Given the description of an element on the screen output the (x, y) to click on. 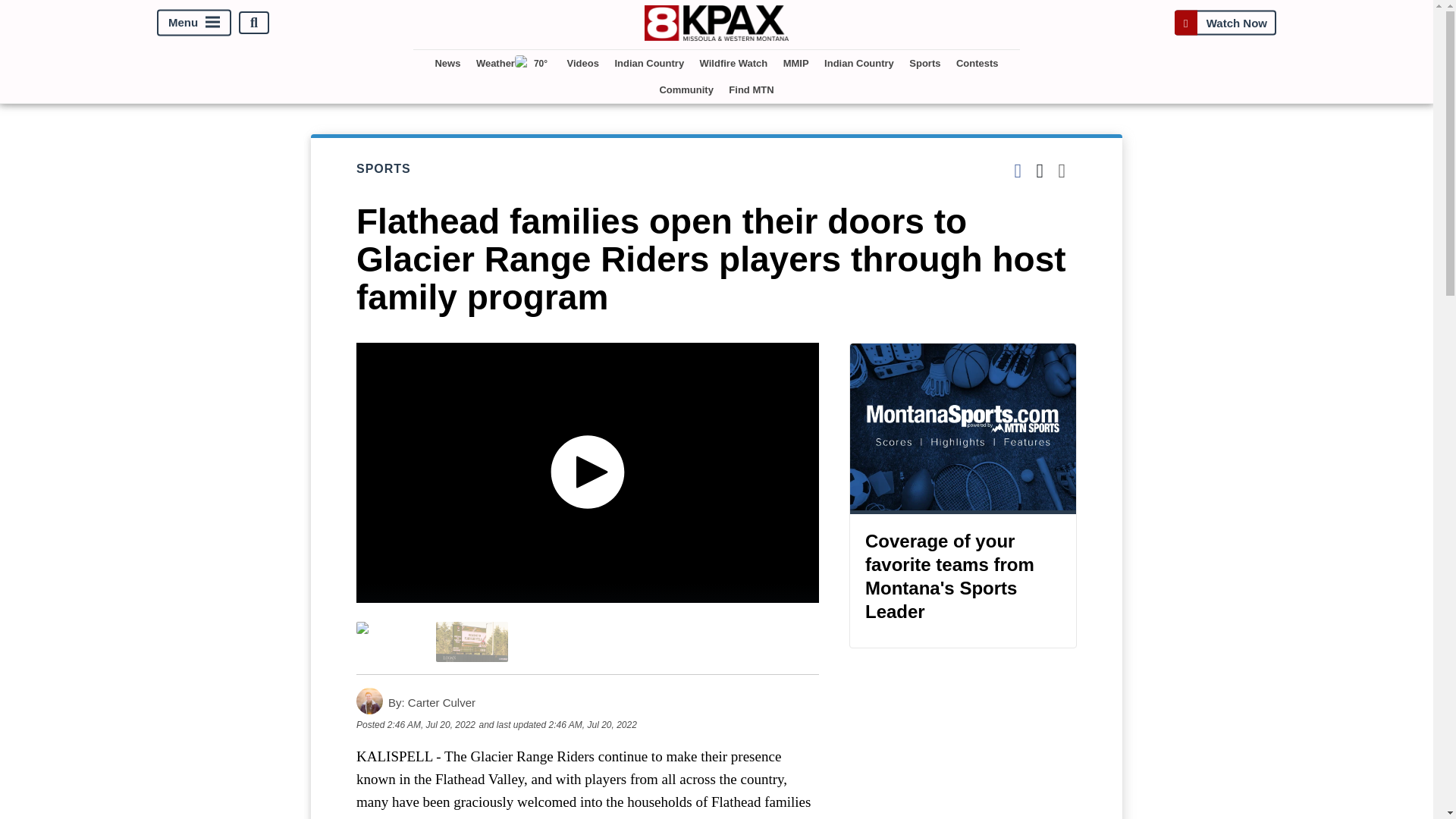
Menu (194, 22)
Watch Now (1224, 22)
